Given the description of an element on the screen output the (x, y) to click on. 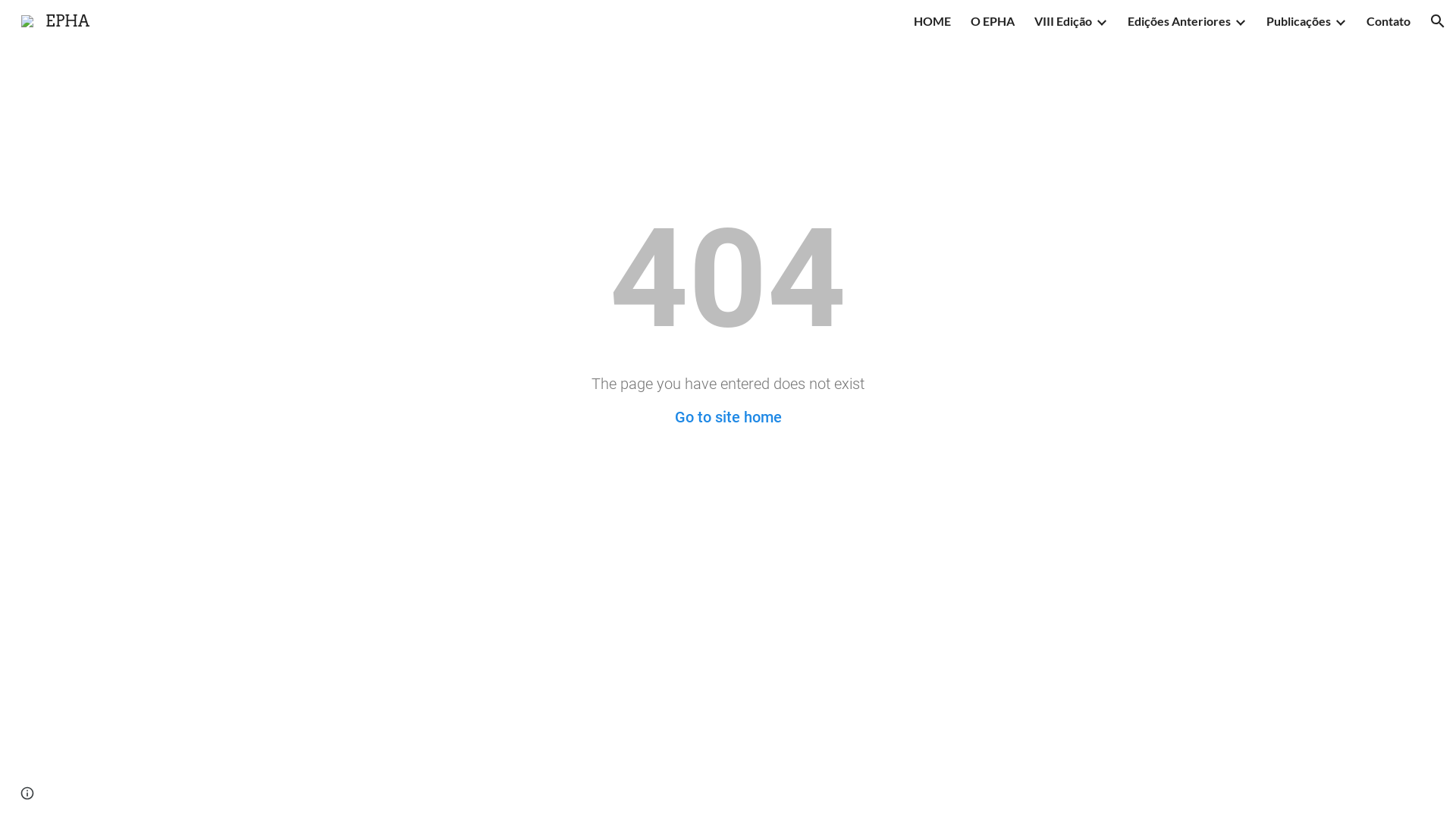
Expand/Collapse Element type: hover (1339, 20)
Go to site home Element type: text (727, 416)
EPHA Element type: text (55, 19)
HOME Element type: text (931, 20)
O EPHA Element type: text (992, 20)
Contato Element type: text (1388, 20)
Expand/Collapse Element type: hover (1239, 20)
Expand/Collapse Element type: hover (1100, 20)
